Given the description of an element on the screen output the (x, y) to click on. 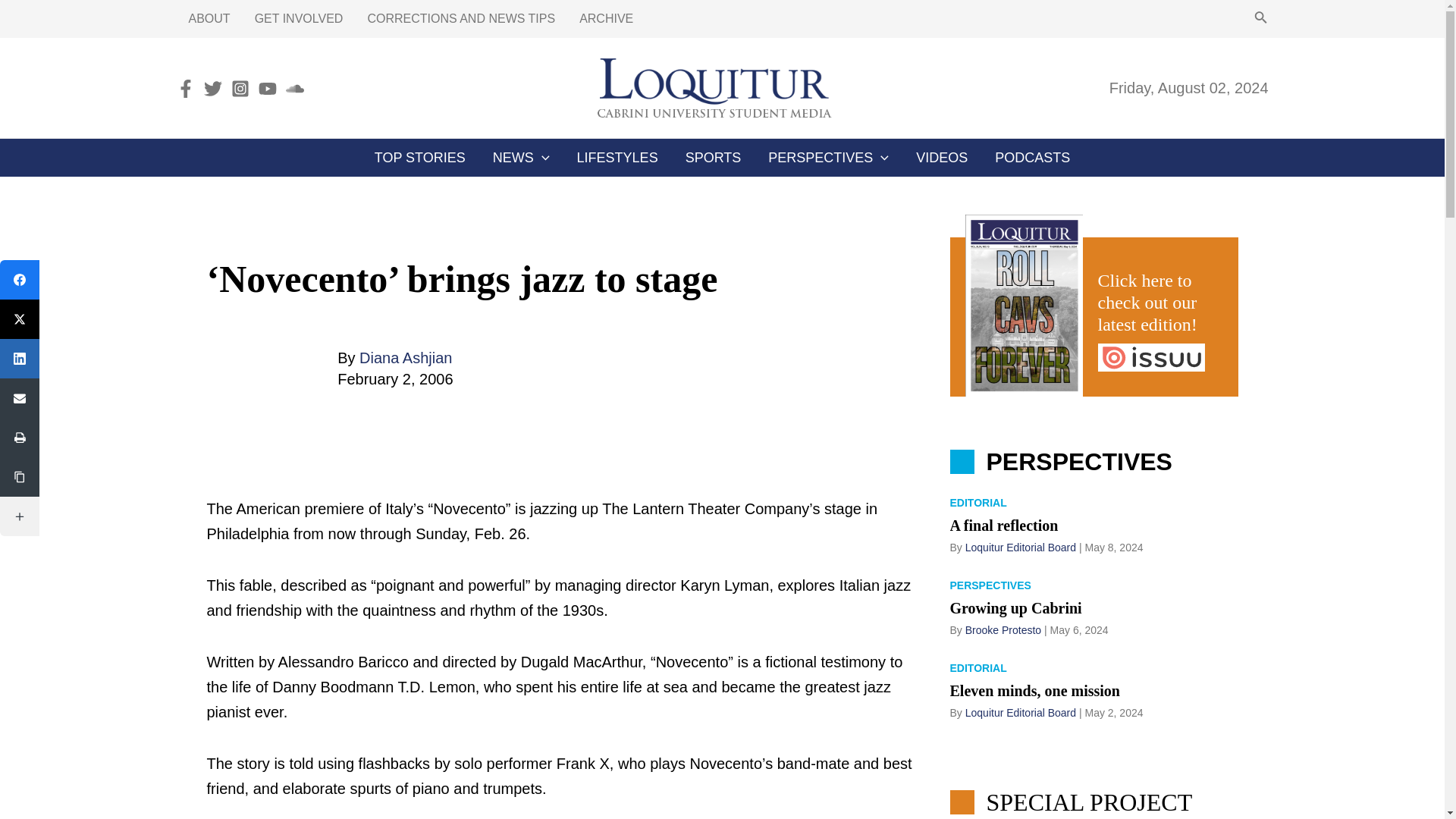
LIFESTYLES (617, 157)
VIDEOS (941, 157)
NEWS (521, 157)
PODCASTS (1032, 157)
GET INVOLVED (299, 18)
ABOUT (208, 18)
TOP STORIES (420, 157)
PERSPECTIVES (828, 157)
CORRECTIONS AND NEWS TIPS (461, 18)
SPORTS (713, 157)
